Given the description of an element on the screen output the (x, y) to click on. 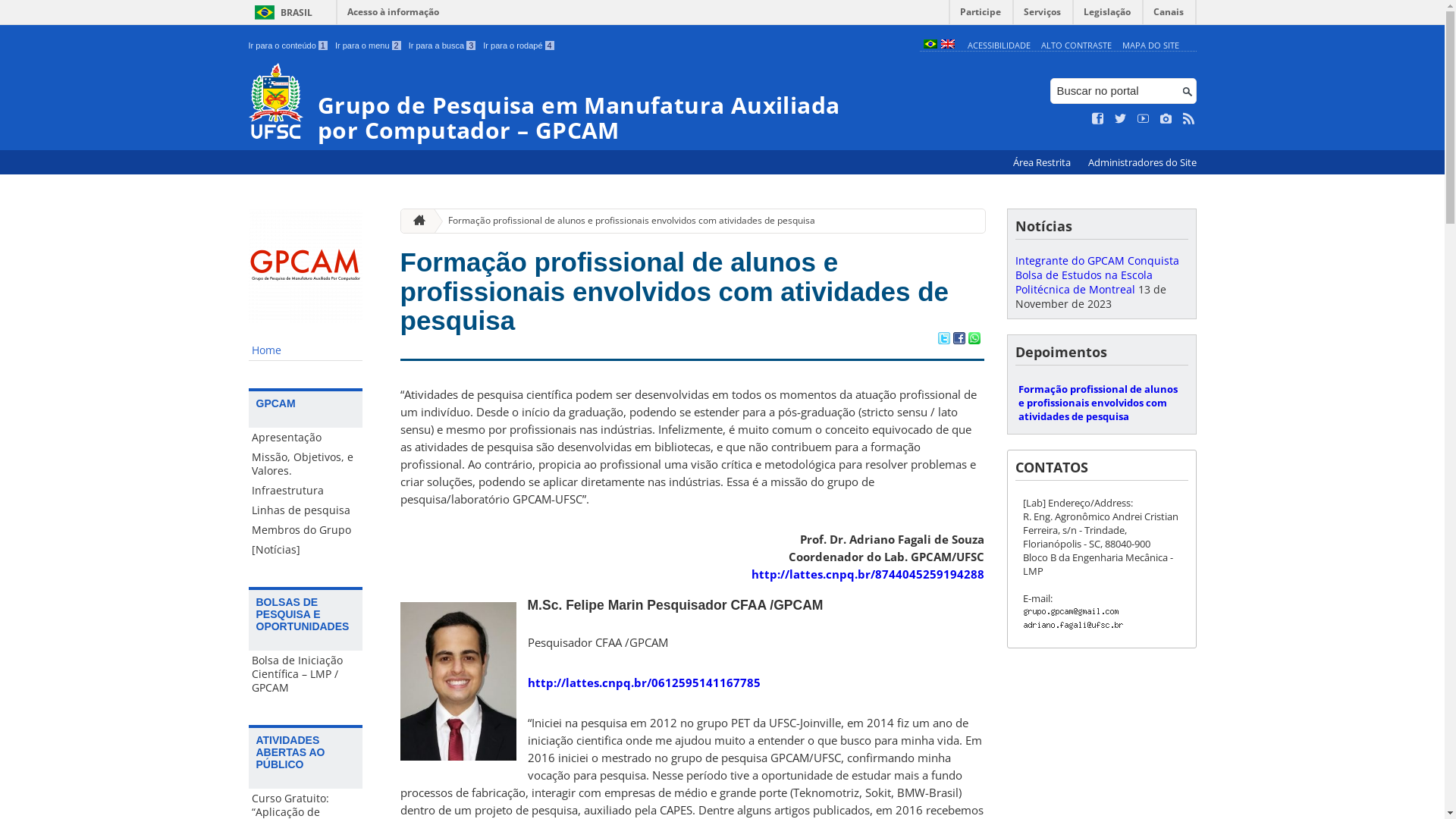
ACESSIBILIDADE Element type: text (998, 44)
ALTO CONTRASTE Element type: text (1076, 44)
Canais Element type: text (1169, 15)
Siga no Twitter Element type: hover (1120, 118)
Participe Element type: text (980, 15)
Compartilhar no Facebook Element type: hover (958, 339)
Ir para a busca 3 Element type: text (442, 45)
Infraestrutura Element type: text (305, 490)
Veja no Instagram Element type: hover (1166, 118)
Linhas de pesquisa Element type: text (305, 510)
http://lattes.cnpq.br/0612595141167785 Element type: text (643, 682)
MAPA DO SITE Element type: text (1150, 44)
Compartilhar no Twitter Element type: hover (943, 339)
Curta no Facebook Element type: hover (1098, 118)
BRASIL Element type: text (280, 12)
Home Element type: text (305, 350)
http://lattes.cnpq.br/8744045259194288 Element type: text (866, 573)
Administradores do Site Element type: text (1141, 162)
Ir para o menu 2 Element type: text (368, 45)
Membros do Grupo Element type: text (305, 529)
English (en) Element type: hover (946, 44)
Compartilhar no WhatsApp Element type: hover (973, 339)
